Given the description of an element on the screen output the (x, y) to click on. 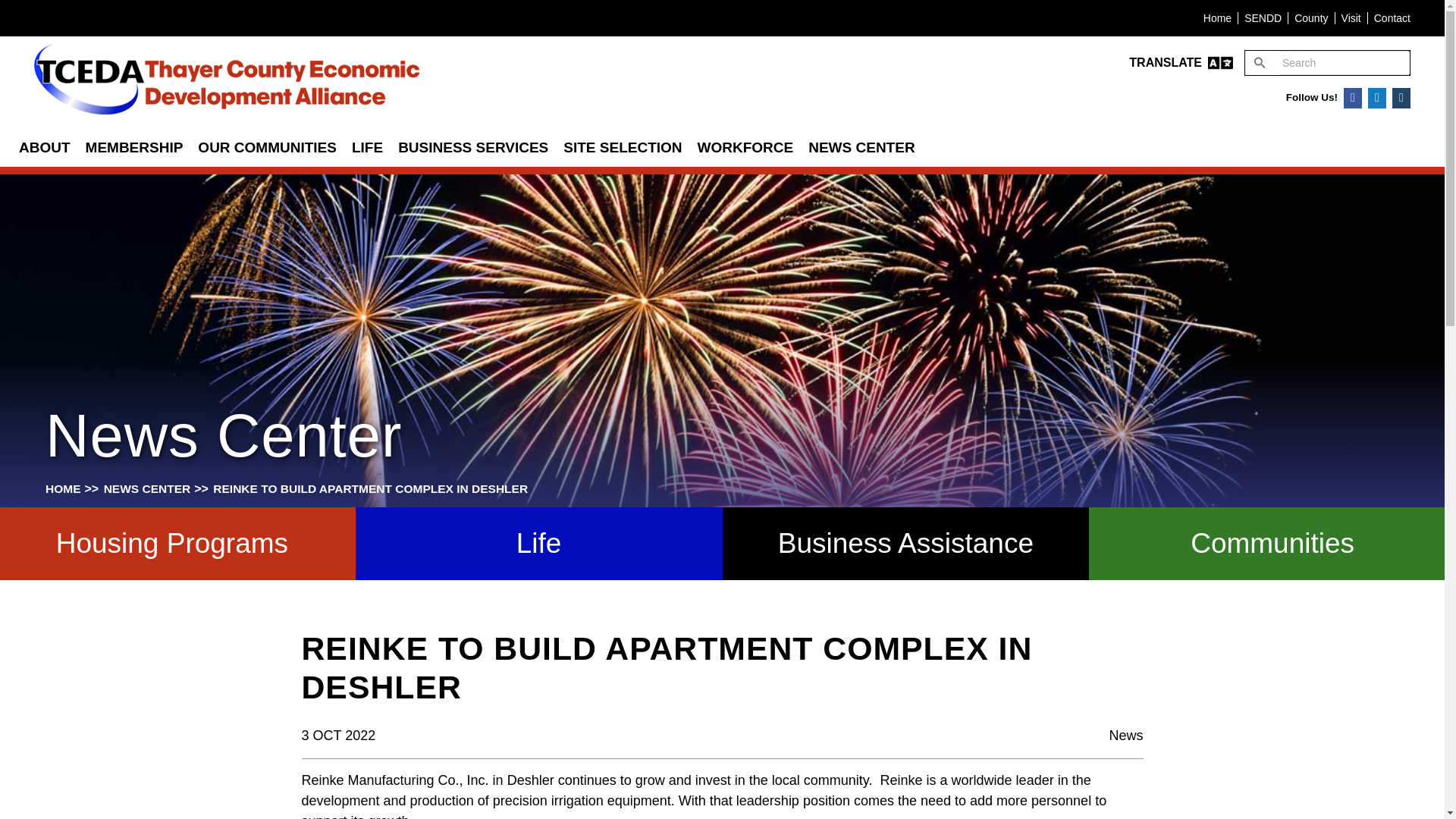
MEMBERSHIP (134, 148)
Twitter (1400, 97)
OUR COMMUNITIES (266, 148)
SENDD (1262, 18)
Facebook (1352, 97)
Linkedin (1377, 97)
LIFE (366, 148)
Home (1217, 18)
Contact (1392, 18)
County (1310, 18)
